Given the description of an element on the screen output the (x, y) to click on. 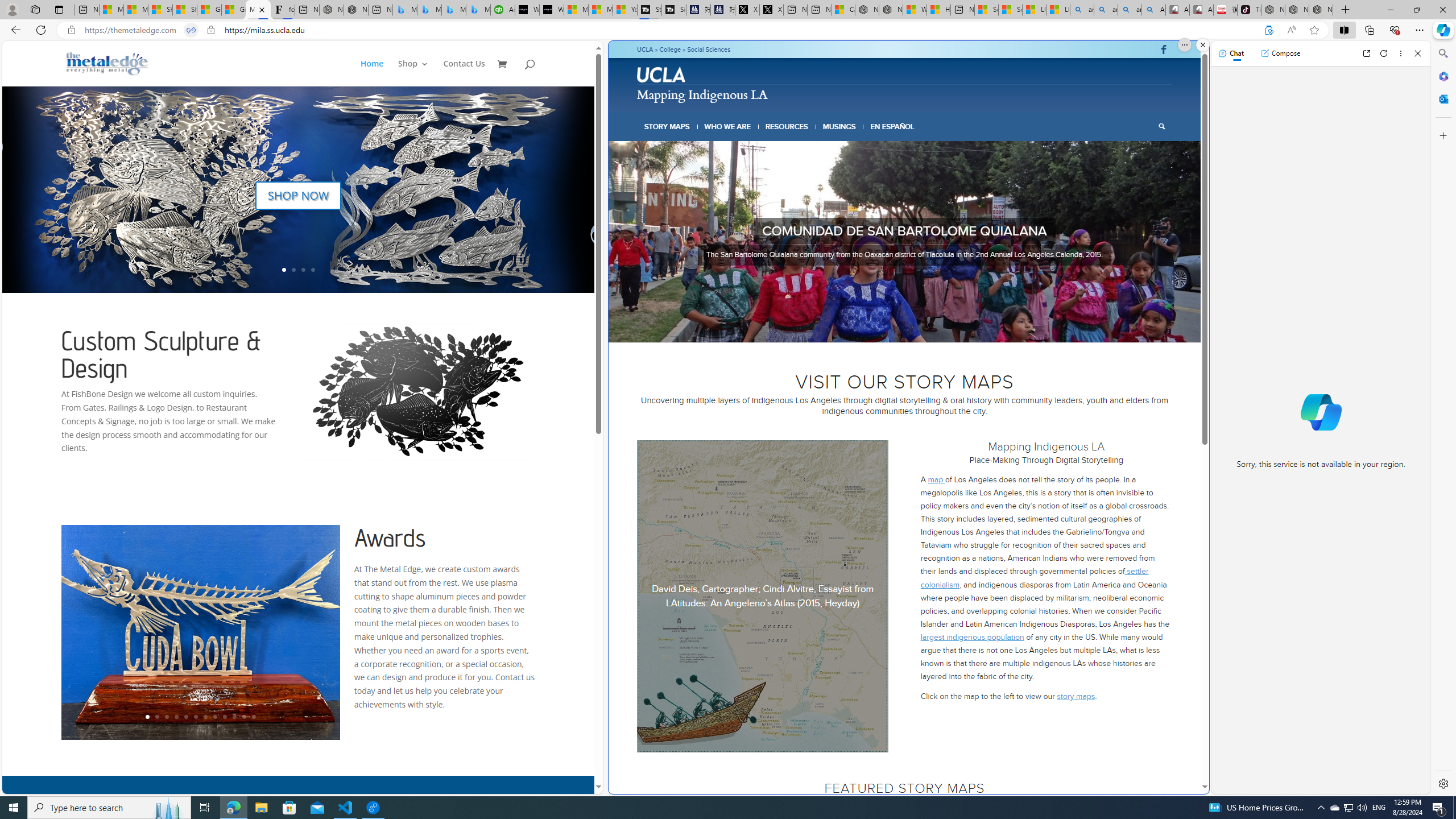
amazon - Search Images (1129, 9)
UCLA logo (661, 74)
RESOURCES (786, 126)
5 (908, 328)
